Given the description of an element on the screen output the (x, y) to click on. 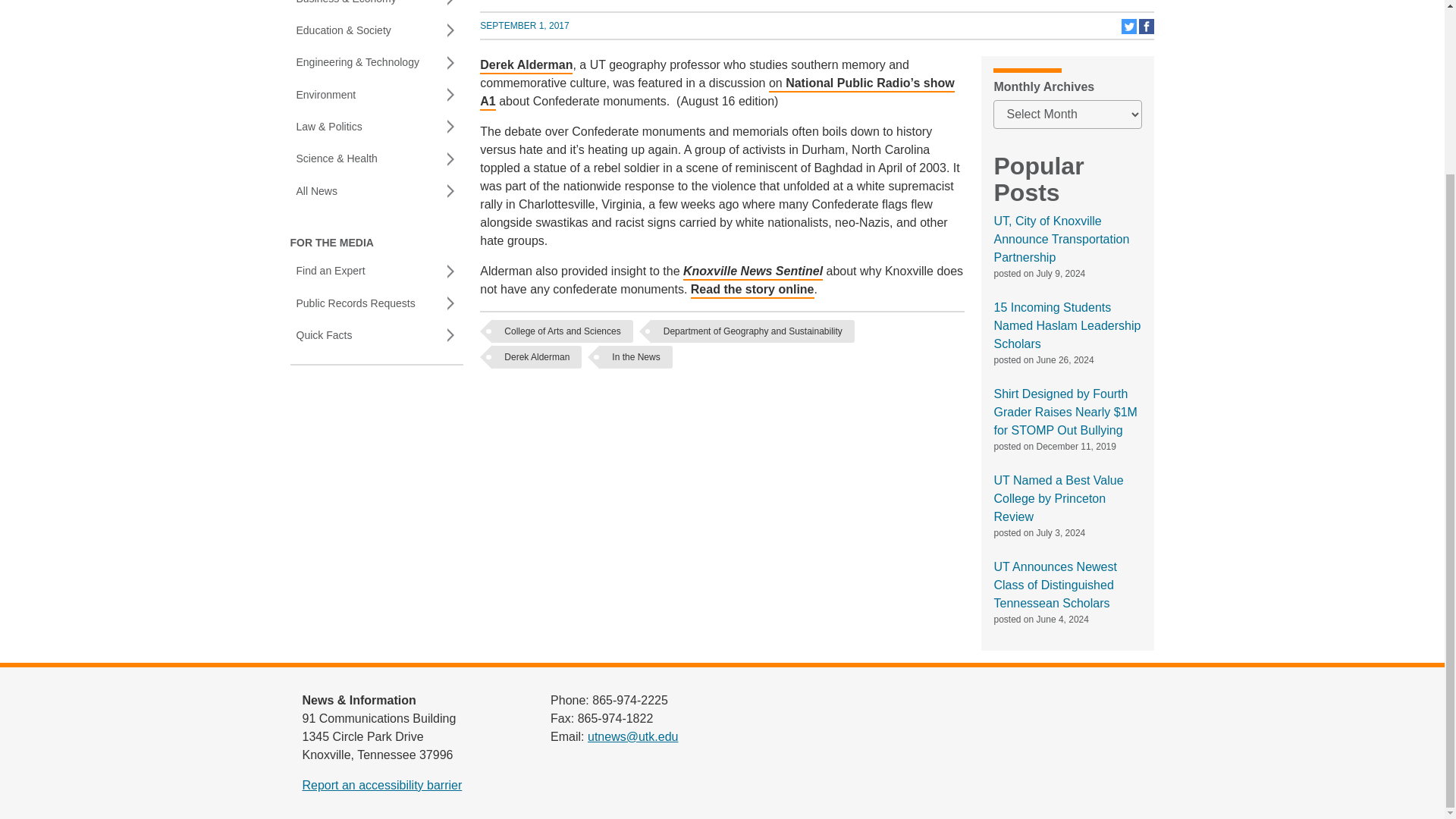
Derek Alderman (526, 66)
All News (376, 191)
Quick Facts (524, 25)
Public Records Requests (376, 335)
Share on Twitter. (376, 303)
Read the story online (1129, 30)
Knoxville News Sentinel (751, 290)
15 Incoming Students Named Haslam Leadership Scholars (752, 272)
